Given the description of an element on the screen output the (x, y) to click on. 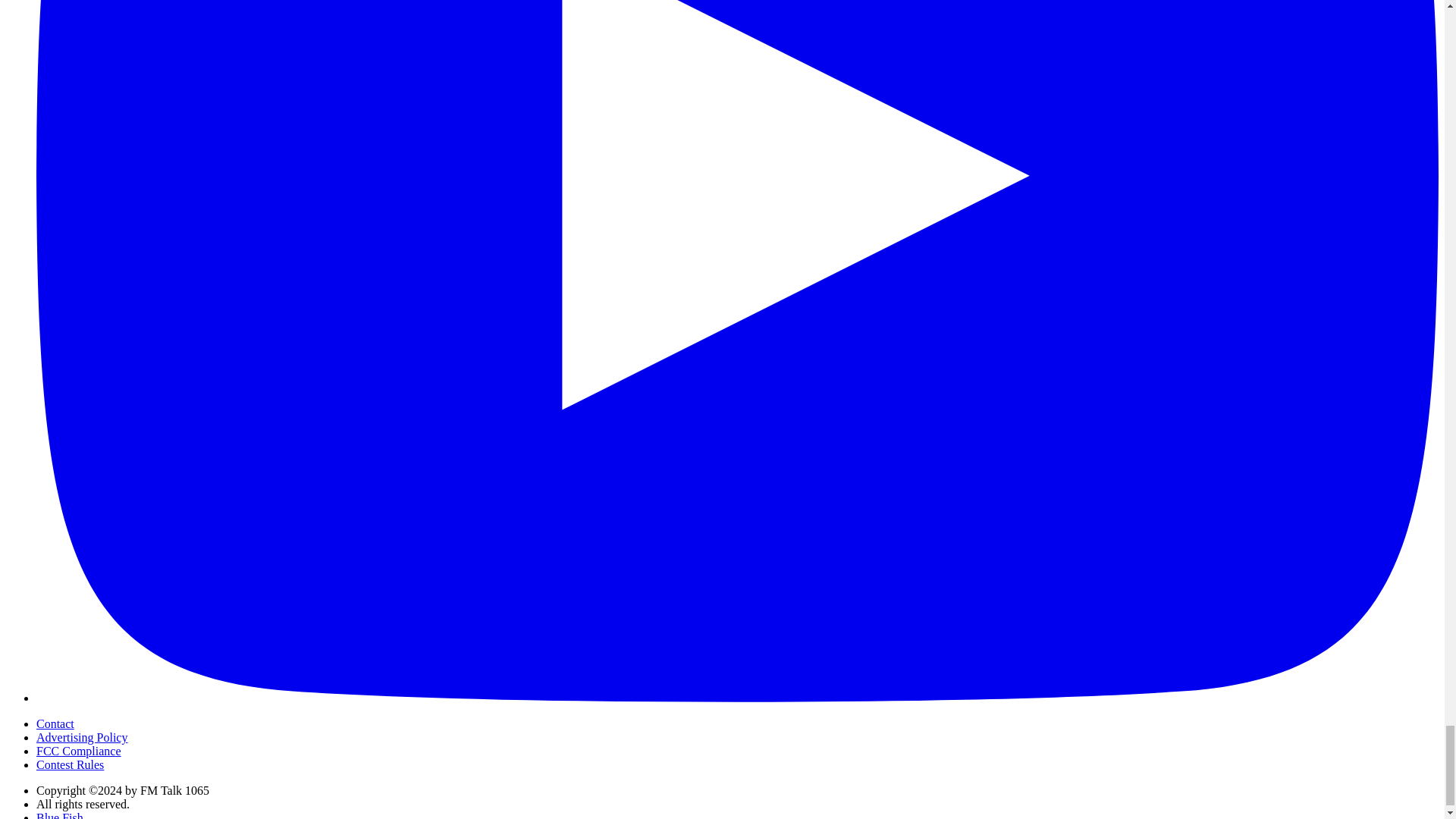
Advertising Policy (82, 737)
FCC Compliance (78, 750)
Contest Rules (69, 764)
Contact (55, 723)
